Given the description of an element on the screen output the (x, y) to click on. 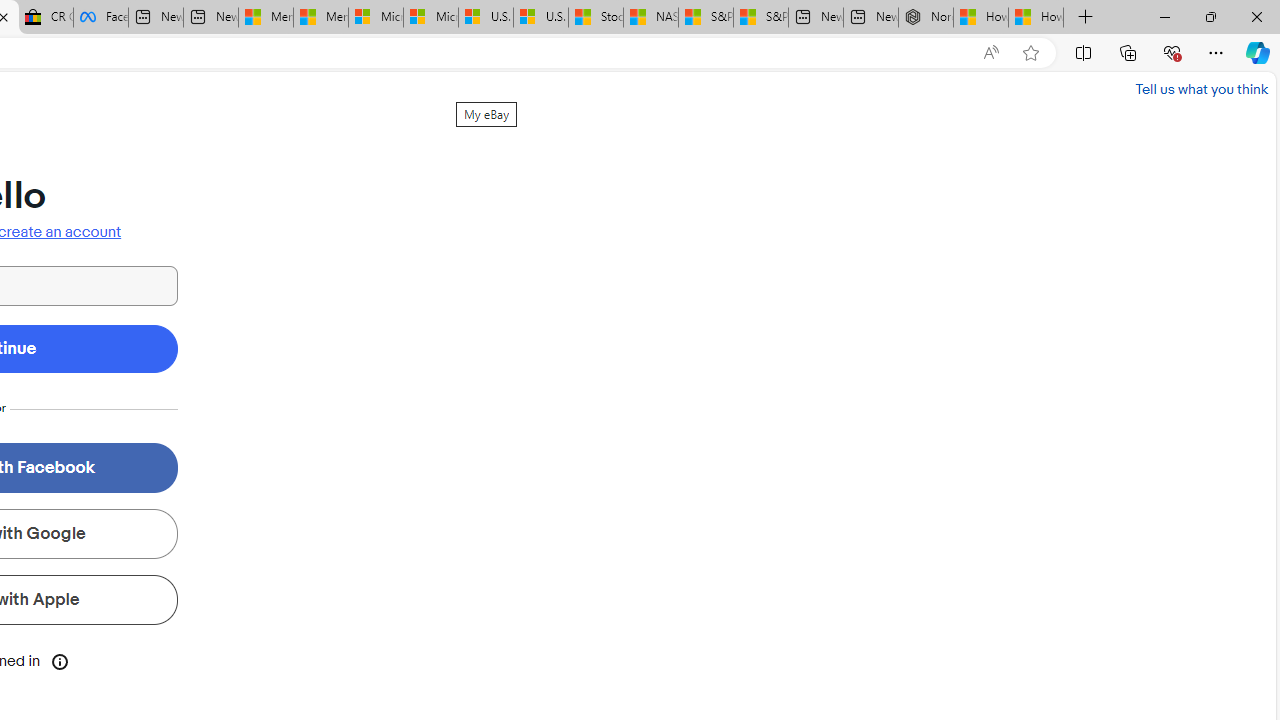
Tell us what you think - Link opens in a new window (1201, 88)
